Given the description of an element on the screen output the (x, y) to click on. 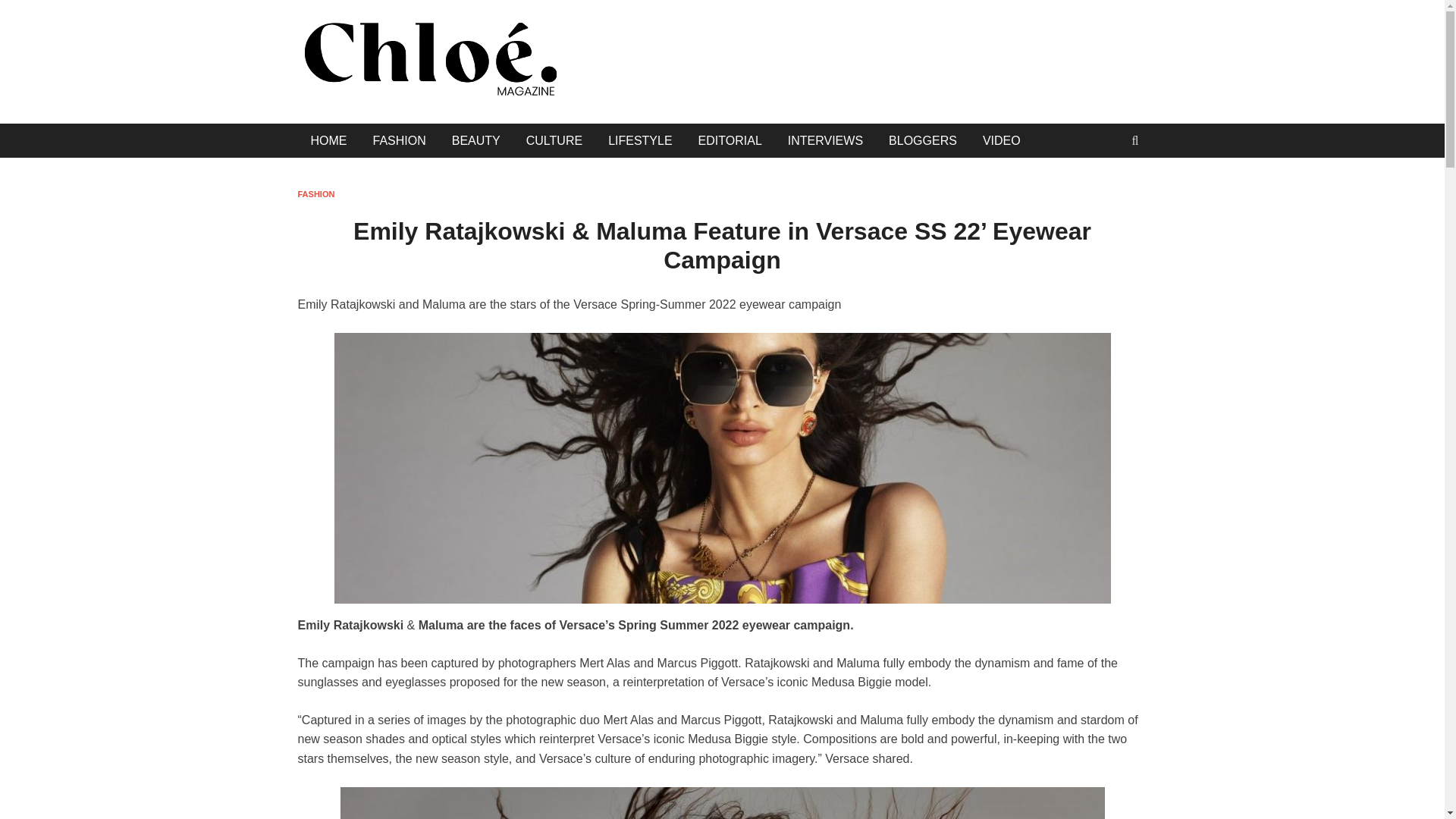
FASHION (398, 140)
BLOGGERS (922, 140)
BEAUTY (476, 140)
EDITORIAL (729, 140)
LIFESTYLE (639, 140)
CULTURE (554, 140)
FASHION (315, 194)
VIDEO (1001, 140)
HOME (328, 140)
INTERVIEWS (825, 140)
